Given the description of an element on the screen output the (x, y) to click on. 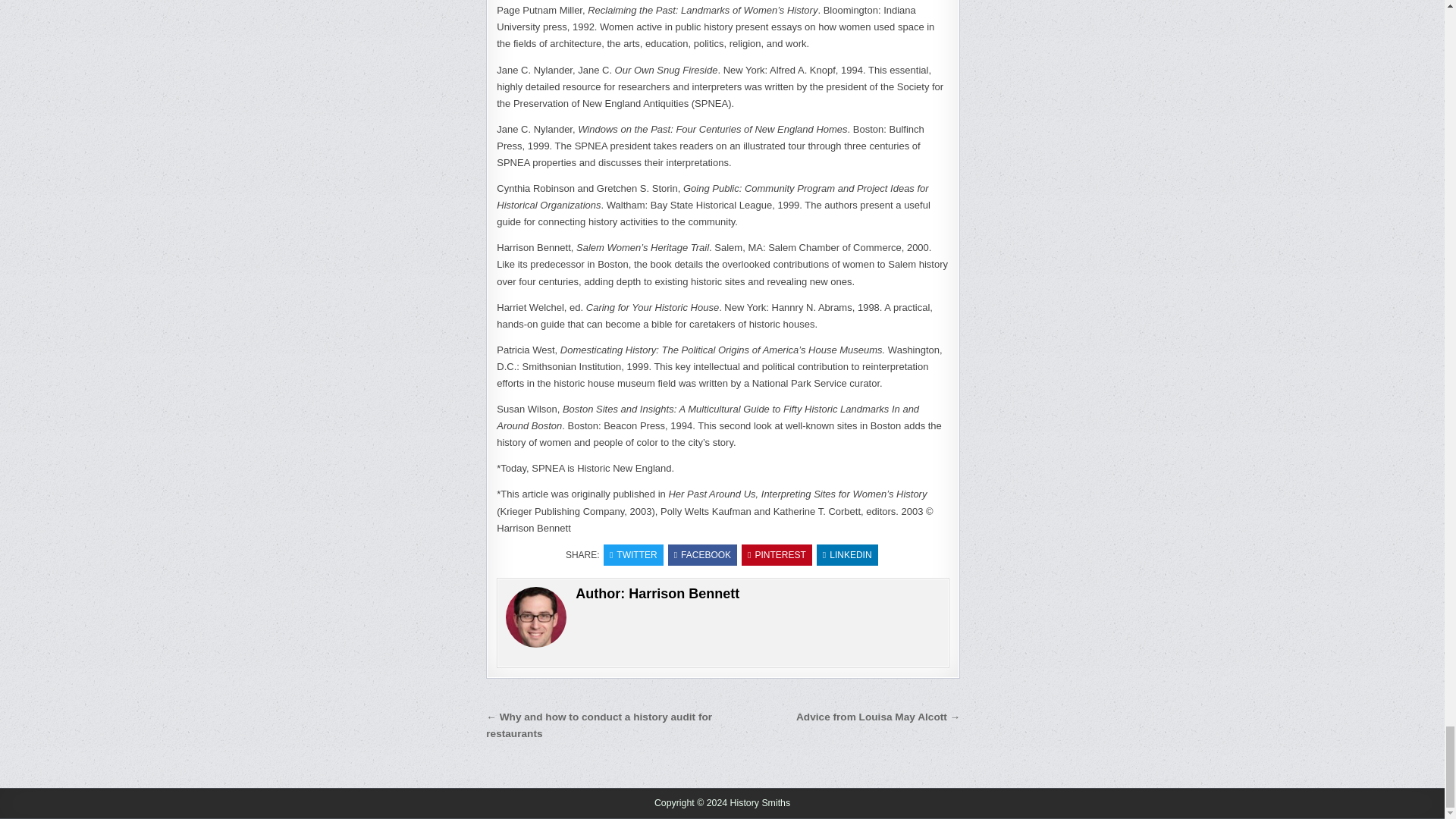
Tweet This! (633, 554)
Harrison Bennett (683, 593)
Share this on Linkedin (846, 554)
FACEBOOK (702, 554)
Share this on Facebook (702, 554)
TWITTER (633, 554)
Share this on Pinterest (776, 554)
PINTEREST (776, 554)
LINKEDIN (846, 554)
